Given the description of an element on the screen output the (x, y) to click on. 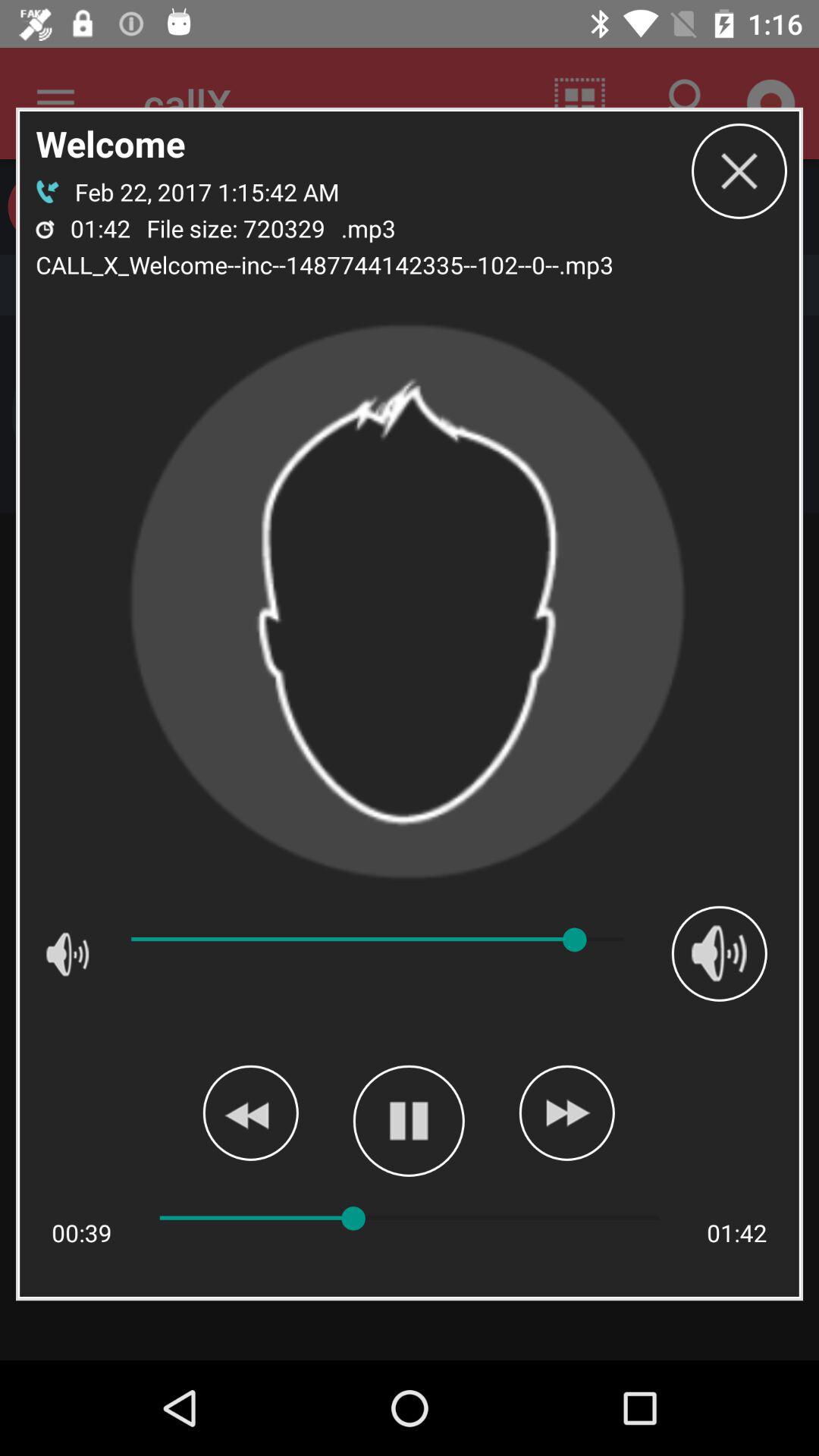
next (566, 1112)
